Given the description of an element on the screen output the (x, y) to click on. 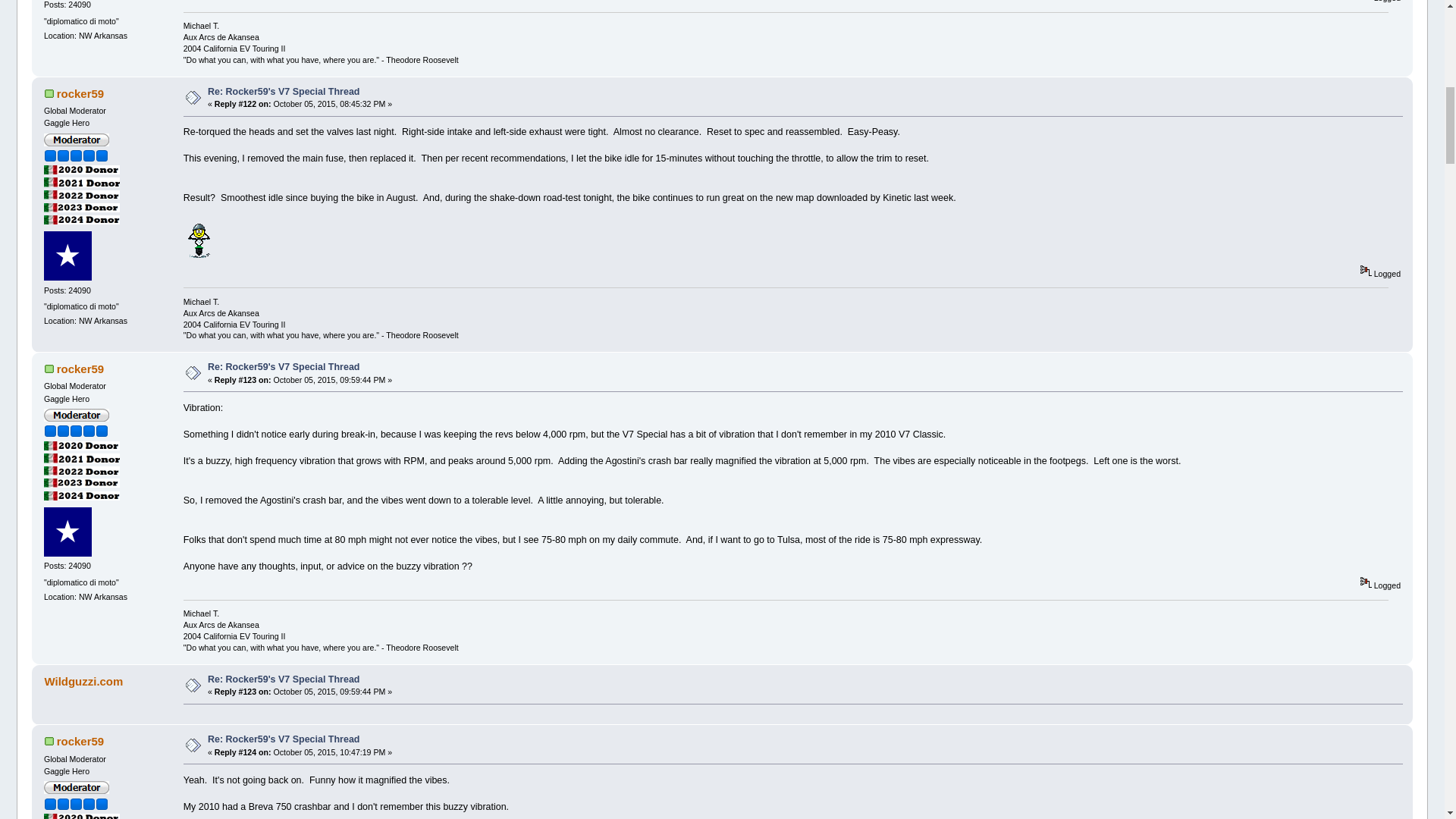
View the profile of rocker59 (79, 740)
View the profile of rocker59 (79, 92)
bike-037 (199, 239)
View the profile of rocker59 (79, 368)
